Given the description of an element on the screen output the (x, y) to click on. 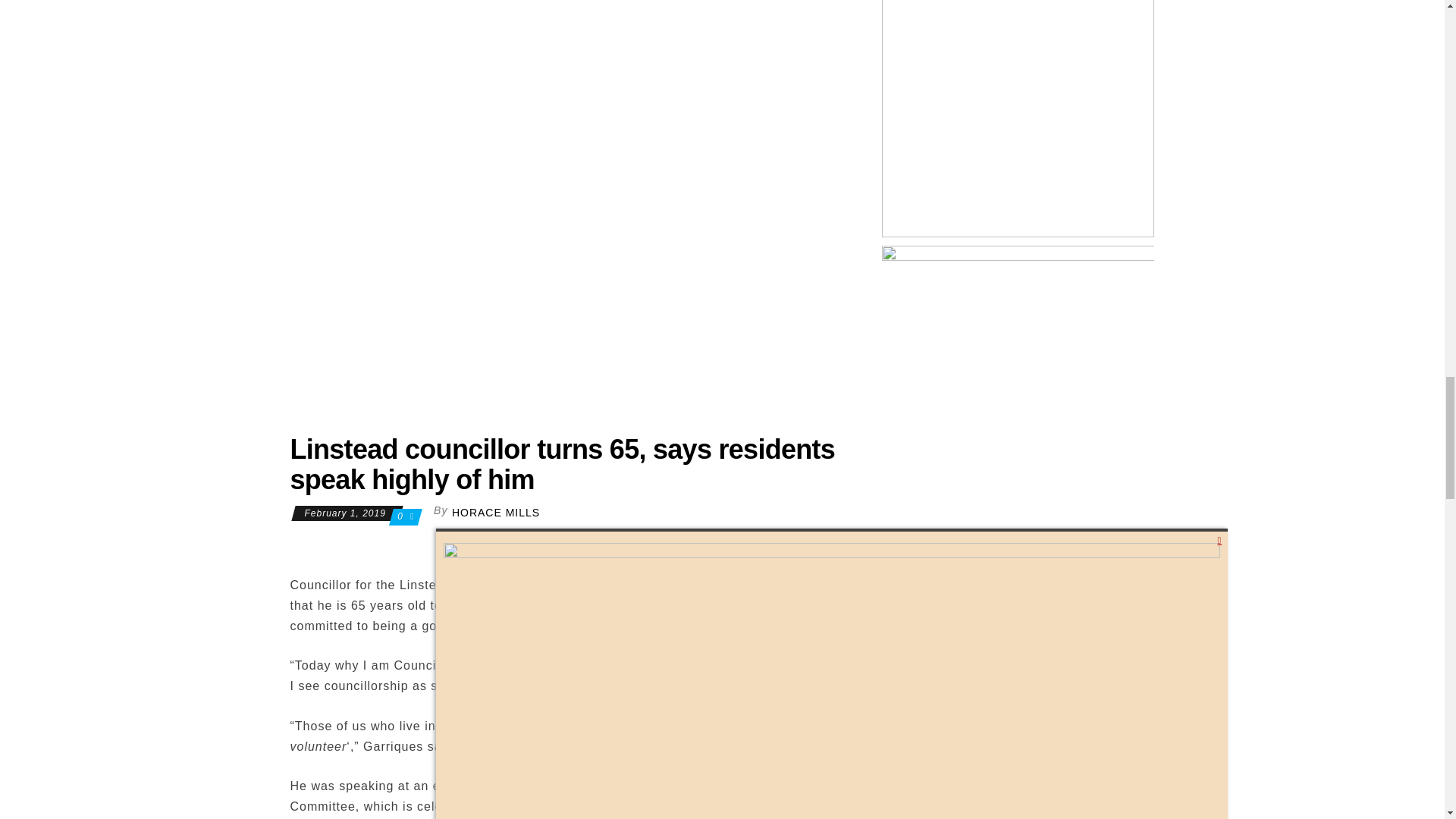
HORACE MILLS (495, 512)
0 (401, 516)
